Given the description of an element on the screen output the (x, y) to click on. 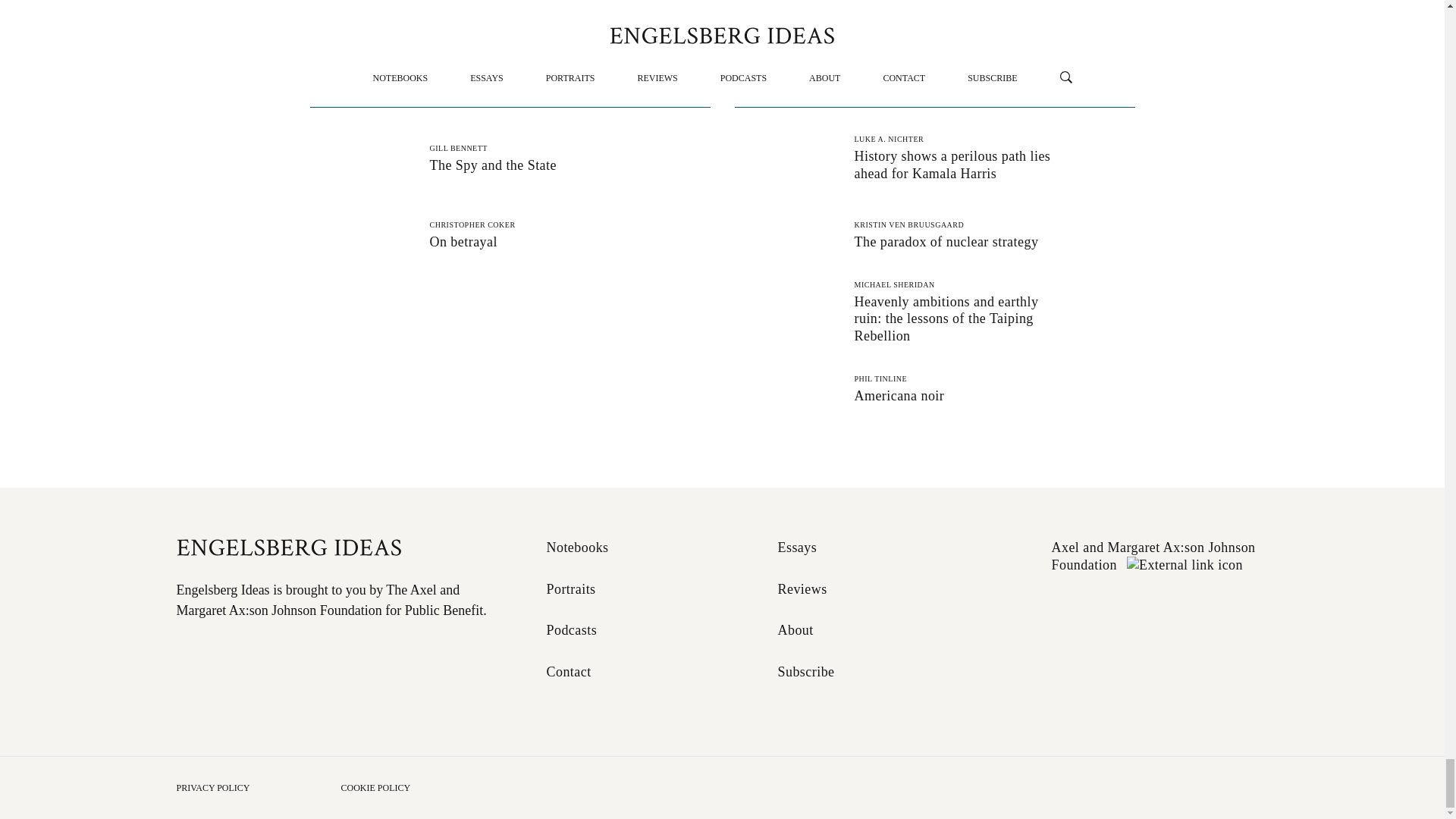
Podcasts (576, 630)
More about Calder Walton (475, 4)
Essays (509, 158)
Engelsbergs Ideas (802, 547)
Contact (334, 547)
Reviews (573, 671)
